Given the description of an element on the screen output the (x, y) to click on. 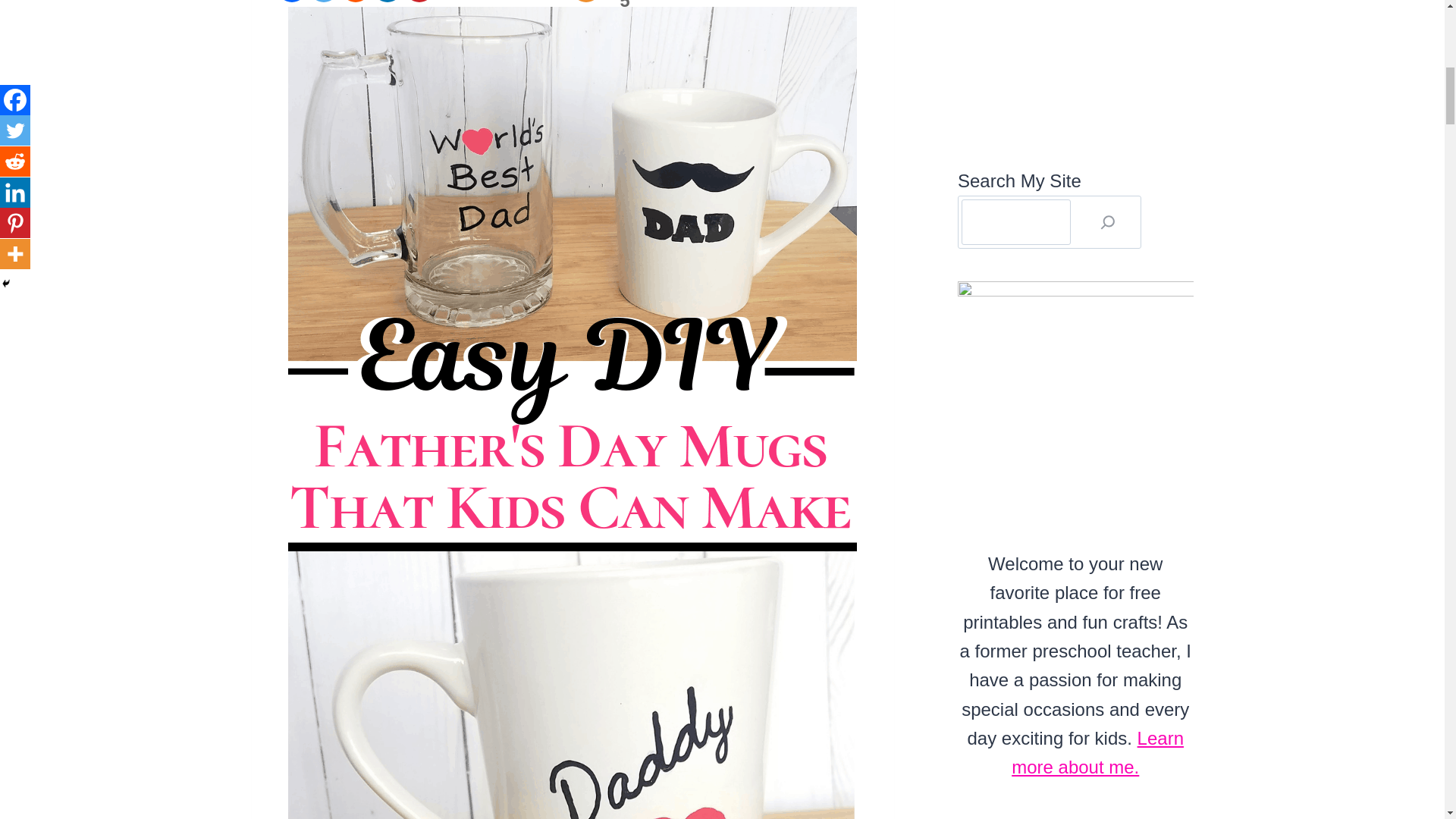
More (585, 1)
Pinterest (418, 1)
Facebook (291, 1)
Reddit (622, 2)
Linkedin (354, 1)
Twitter (386, 1)
635 (322, 1)
Share (418, 1)
Total Shares (522, 2)
